Given the description of an element on the screen output the (x, y) to click on. 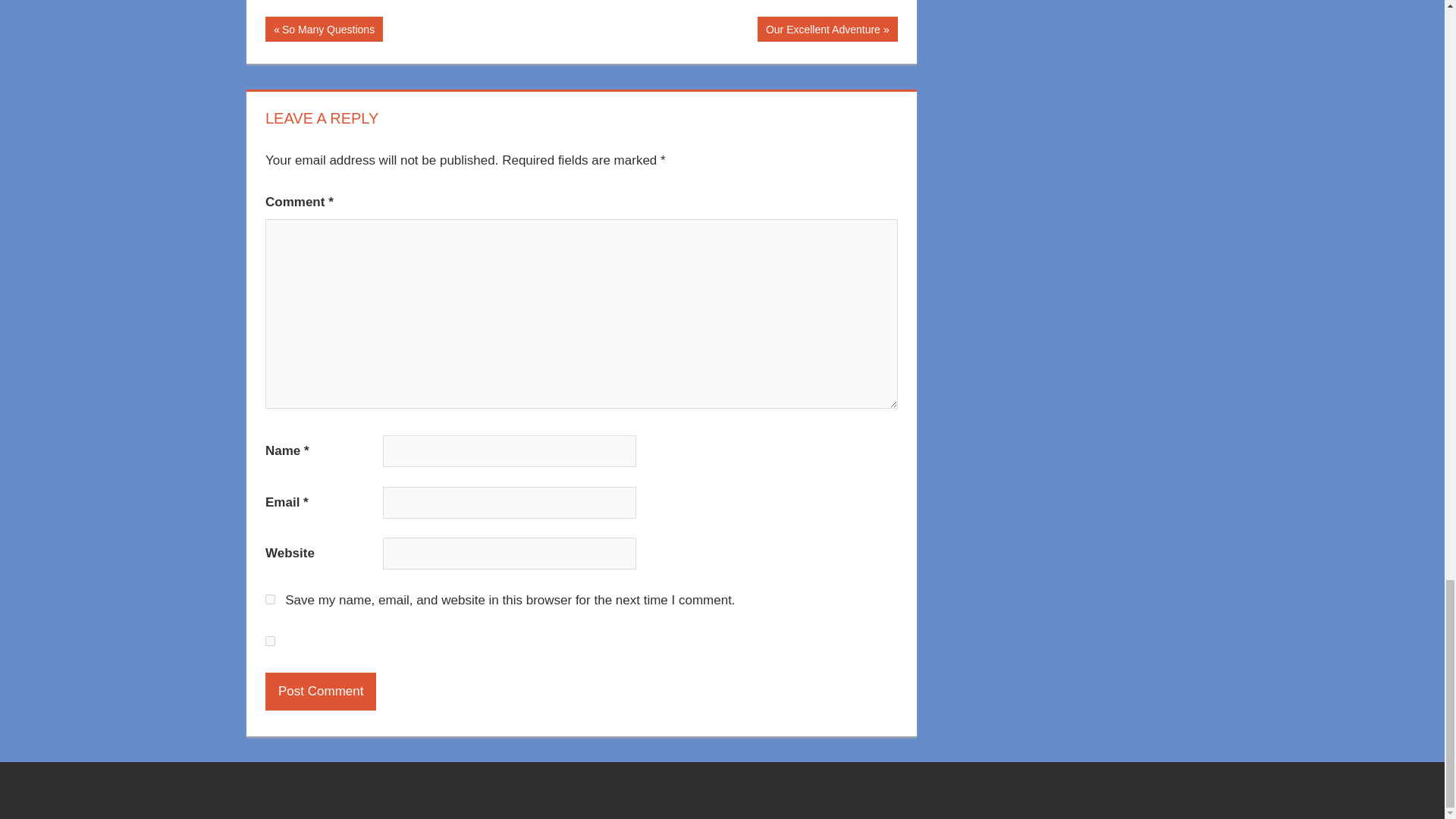
Post Comment (319, 691)
yes (269, 641)
Post Comment (323, 28)
yes (319, 691)
